Given the description of an element on the screen output the (x, y) to click on. 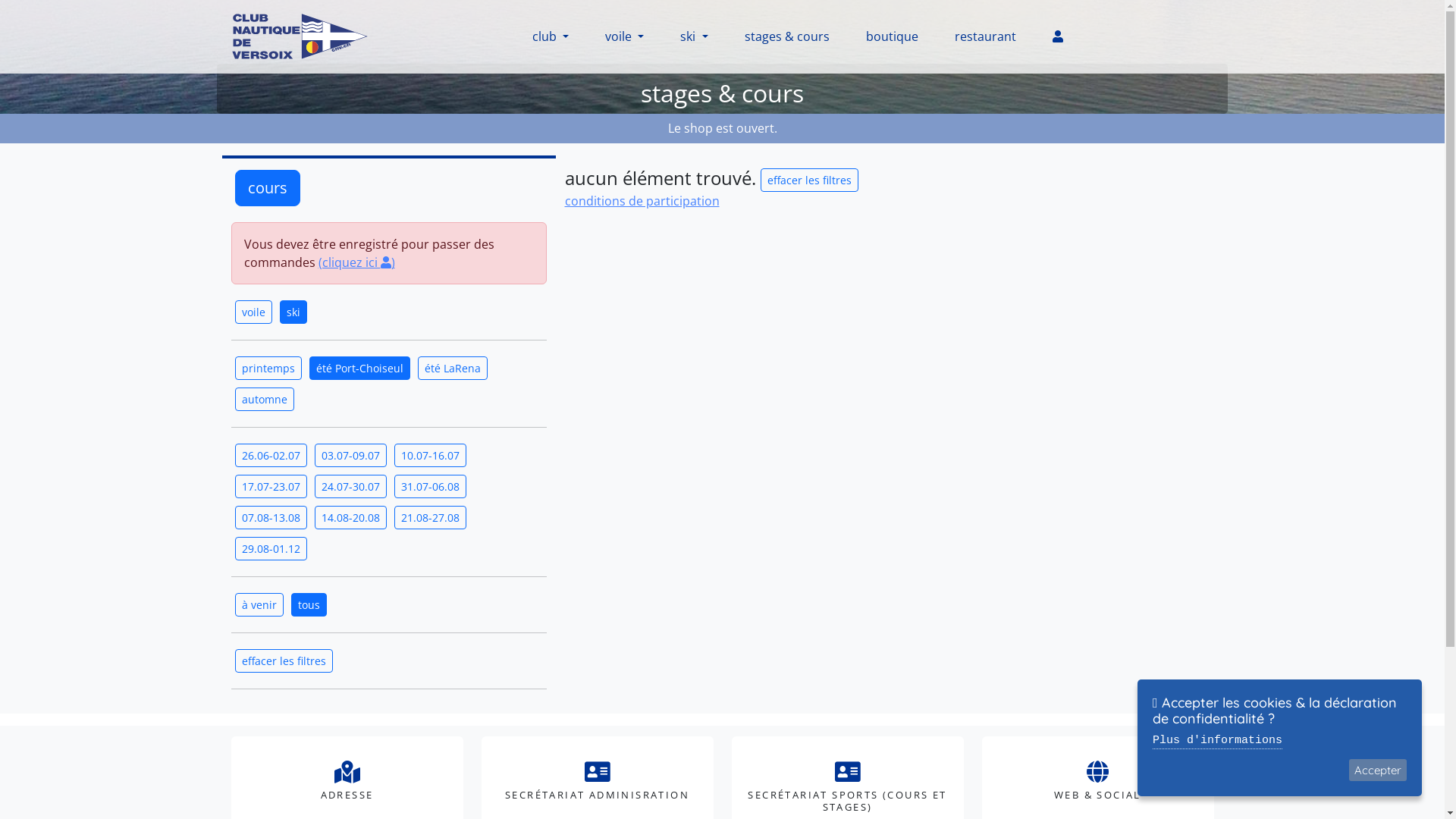
effacer les filtres Element type: text (283, 660)
voile Element type: text (253, 311)
26.06-02.07 Element type: text (271, 455)
29.08-01.12 Element type: text (271, 548)
ski Element type: text (292, 311)
effacer les filtres Element type: text (808, 177)
10.07-16.07 Element type: text (430, 455)
automne Element type: text (264, 399)
ski Element type: text (693, 36)
effacer les filtres Element type: text (808, 179)
printemps Element type: text (268, 367)
24.07-30.07 Element type: text (349, 486)
31.07-06.08 Element type: text (430, 486)
club Element type: text (550, 36)
Plus d'informations Element type: text (1217, 741)
voile Element type: text (624, 36)
07.08-13.08 Element type: text (271, 517)
boutique Element type: text (891, 36)
Accepter Element type: text (1377, 770)
cours Element type: text (267, 187)
14.08-20.08 Element type: text (349, 517)
restaurant Element type: text (985, 36)
17.07-23.07 Element type: text (271, 486)
(cliquez ici ) Element type: text (356, 262)
stages & cours Element type: text (786, 36)
03.07-09.07 Element type: text (349, 455)
21.08-27.08 Element type: text (430, 517)
tous Element type: text (308, 604)
conditions de participation Element type: text (641, 200)
